Given the description of an element on the screen output the (x, y) to click on. 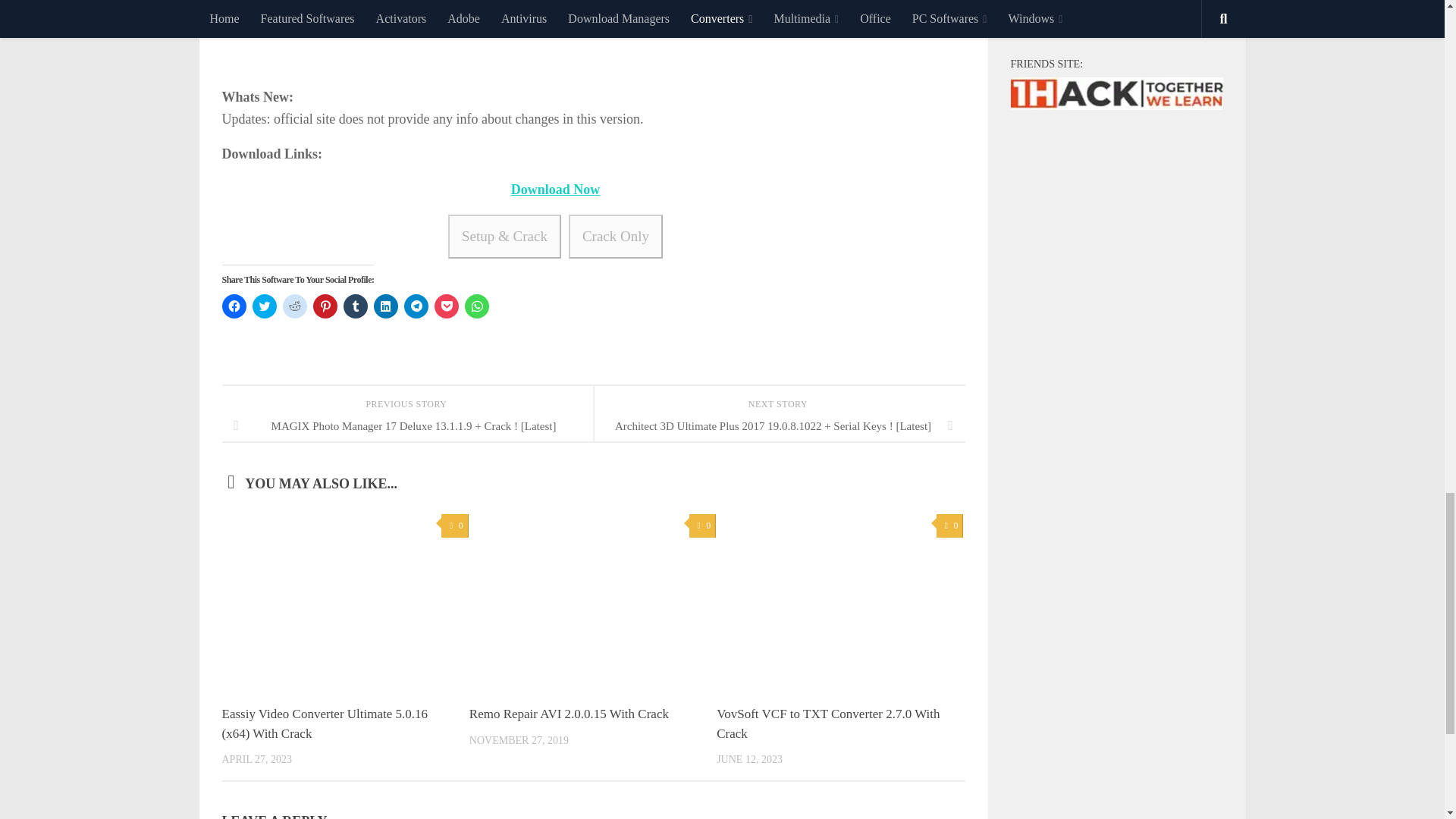
Click to share on Facebook (233, 306)
Click to share on Reddit (293, 306)
Click to share on WhatsApp (475, 306)
Click to share on LinkedIn (384, 306)
Click to share on Twitter (263, 306)
Click to share on Pinterest (324, 306)
Click to share on Pocket (445, 306)
Click to share on Telegram (415, 306)
Click to share on Tumblr (354, 306)
